Given the description of an element on the screen output the (x, y) to click on. 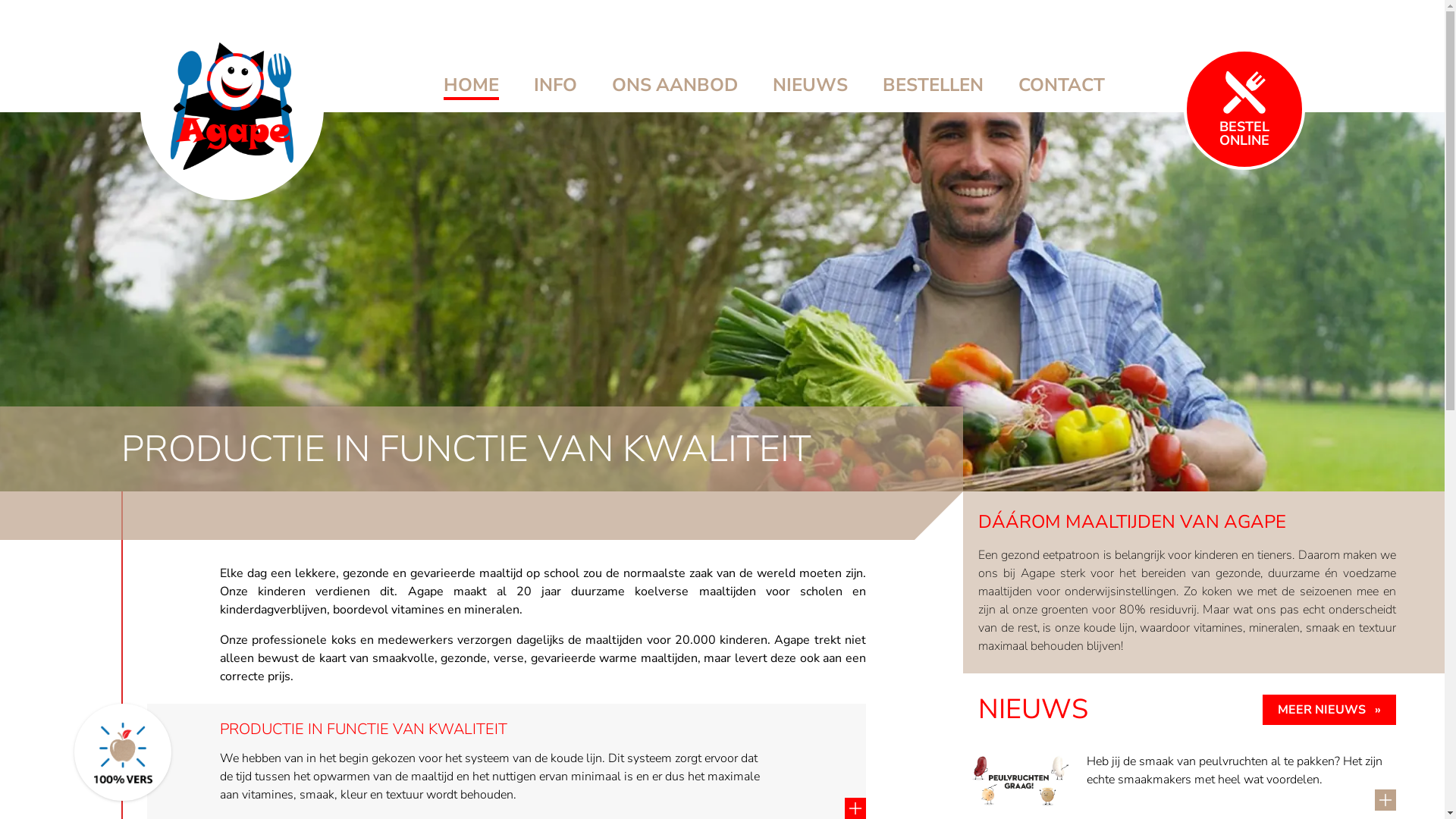
INFO Element type: text (555, 84)
onze koude lijn Element type: text (1094, 627)
ONS AANBOD Element type: text (674, 84)
HOME Element type: text (470, 86)
PRODUCTIE IN FUNCTIE VAN KWALITEIT Element type: text (542, 729)
CONTACT Element type: text (1060, 84)
BESTELLEN Element type: text (932, 84)
NIEUWS Element type: text (809, 84)
BESTEL ONLINE Element type: text (1243, 84)
